Given the description of an element on the screen output the (x, y) to click on. 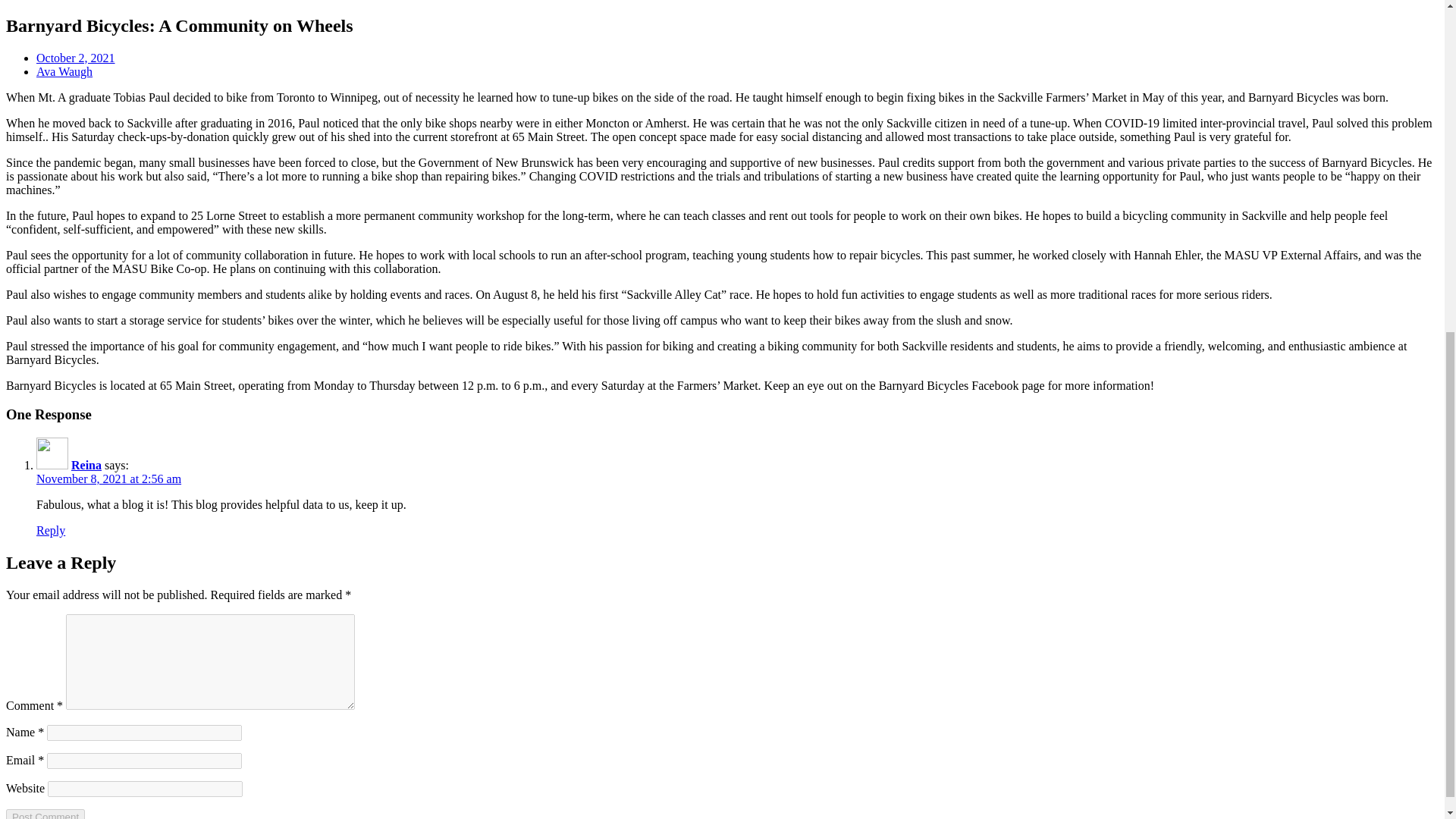
Reply (50, 530)
Ava Waugh (64, 71)
November 8, 2021 at 2:56 am (108, 478)
Reina (86, 464)
October 2, 2021 (75, 57)
